Given the description of an element on the screen output the (x, y) to click on. 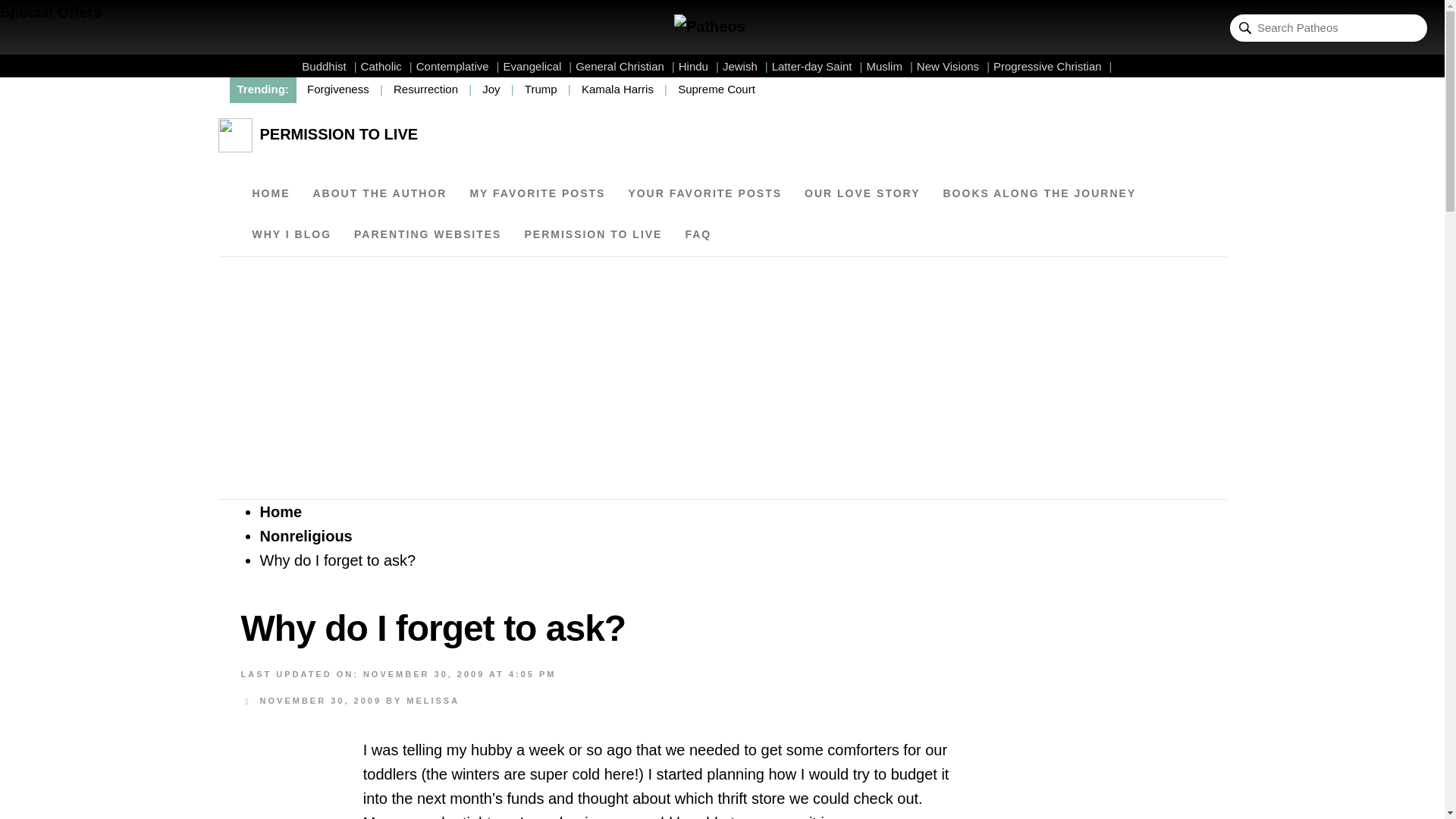
Jewish (745, 65)
New Visions (953, 65)
Contemplative (457, 65)
Evangelical (537, 65)
Hindu (698, 65)
Progressive Christian (1052, 65)
Muslim (889, 65)
Special Offers (50, 12)
General Christian (625, 65)
Buddhist (328, 65)
